Given the description of an element on the screen output the (x, y) to click on. 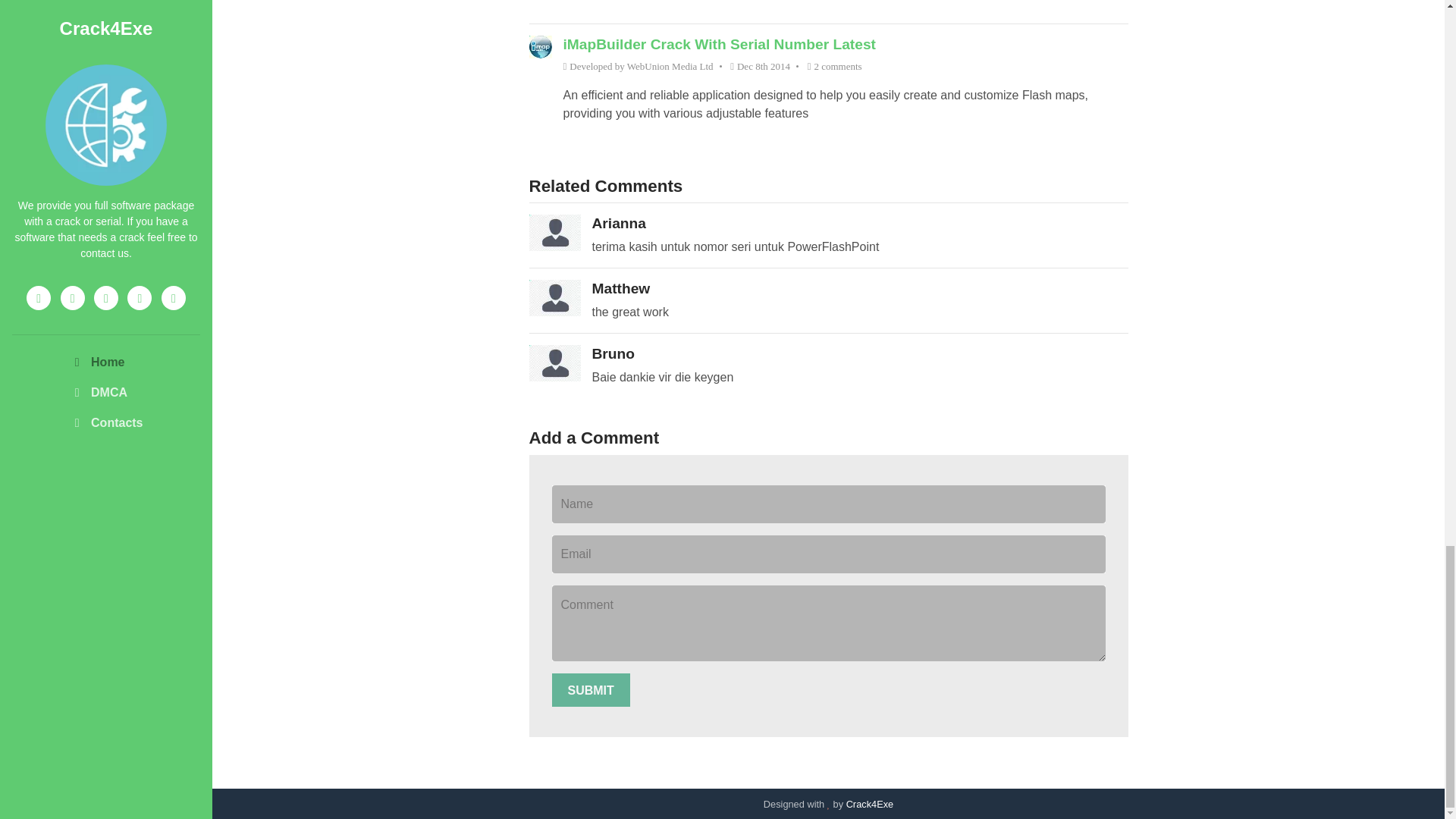
SUBMIT (590, 689)
iMapBuilder Crack With Serial Number Latest (718, 44)
Crack4Exe (869, 803)
